Given the description of an element on the screen output the (x, y) to click on. 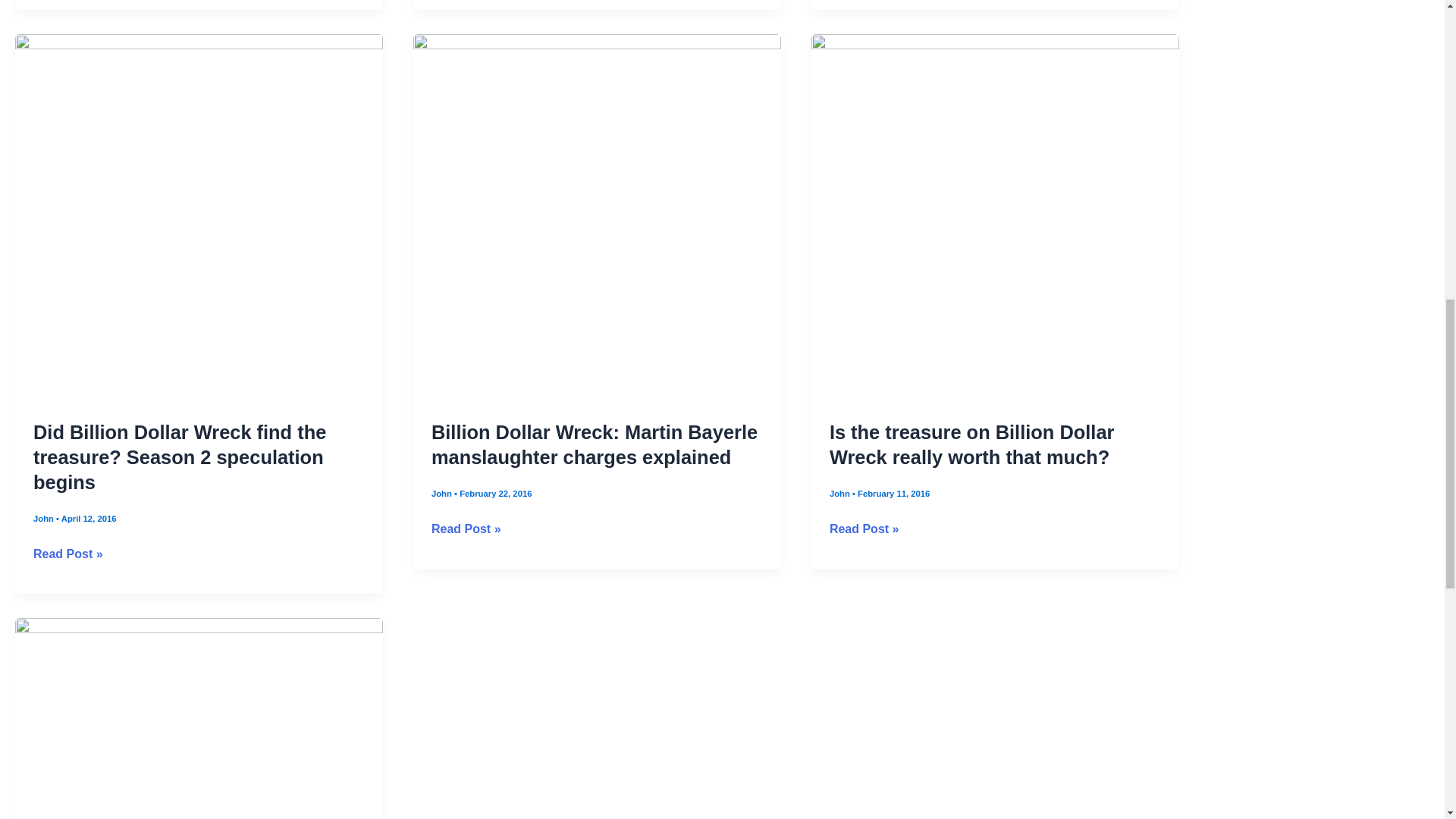
View all posts by John (442, 524)
View all posts by John (840, 524)
View all posts by John (44, 550)
